Given the description of an element on the screen output the (x, y) to click on. 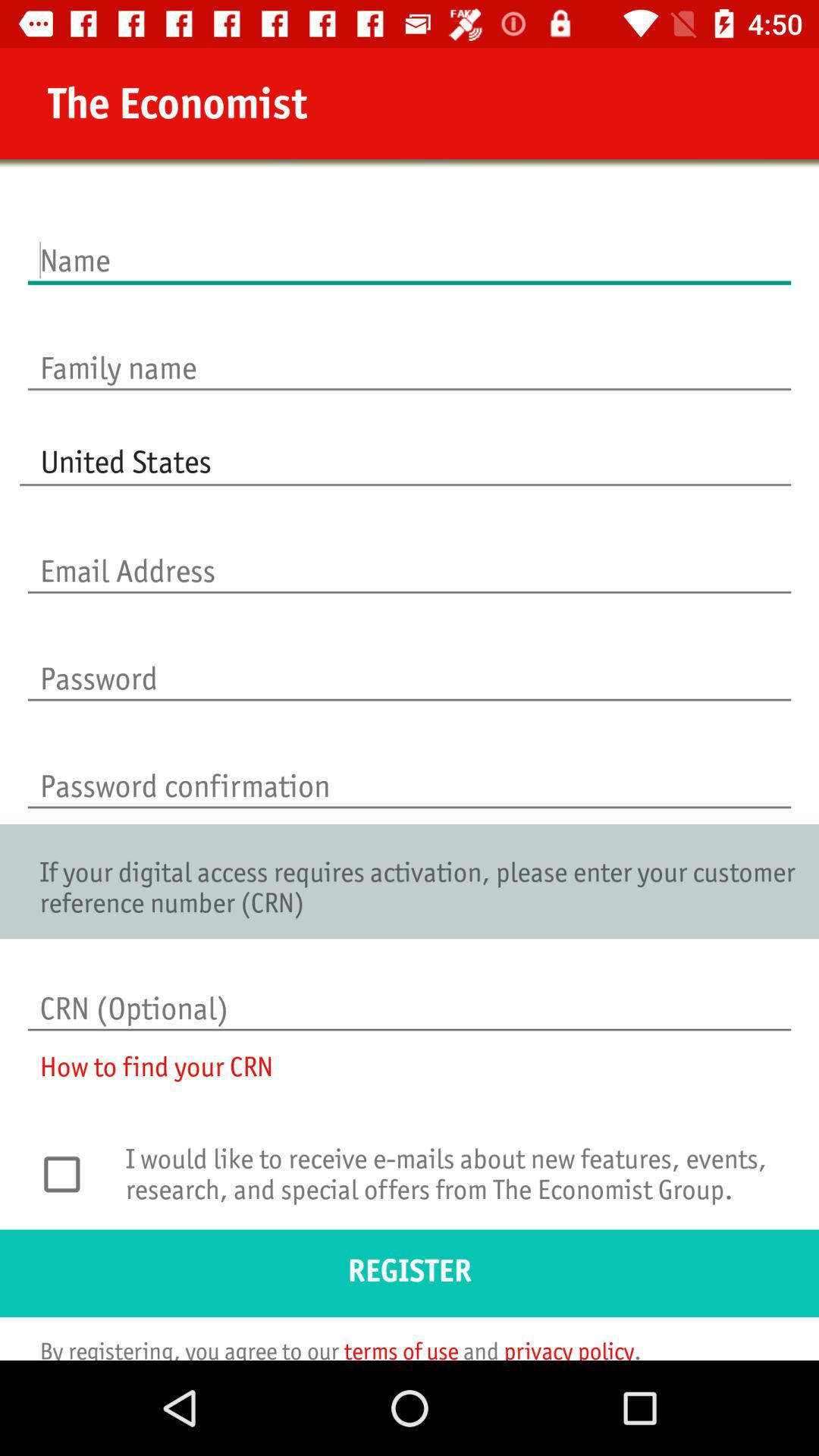
launch the by registering you item (330, 1348)
